Given the description of an element on the screen output the (x, y) to click on. 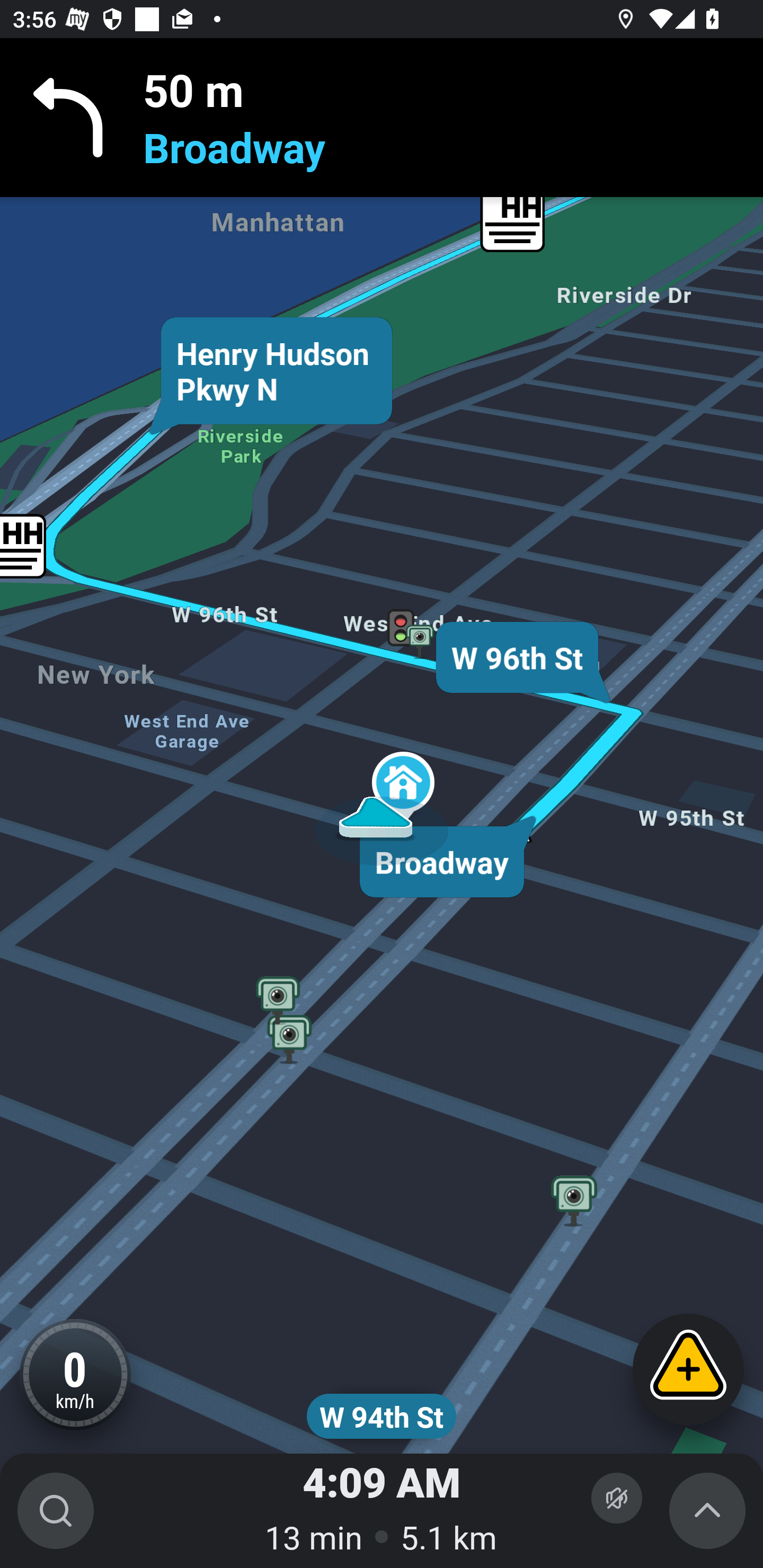
50 m Broadway (381, 117)
4:09 AM 13 min 5.1 km (381, 1510)
